Given the description of an element on the screen output the (x, y) to click on. 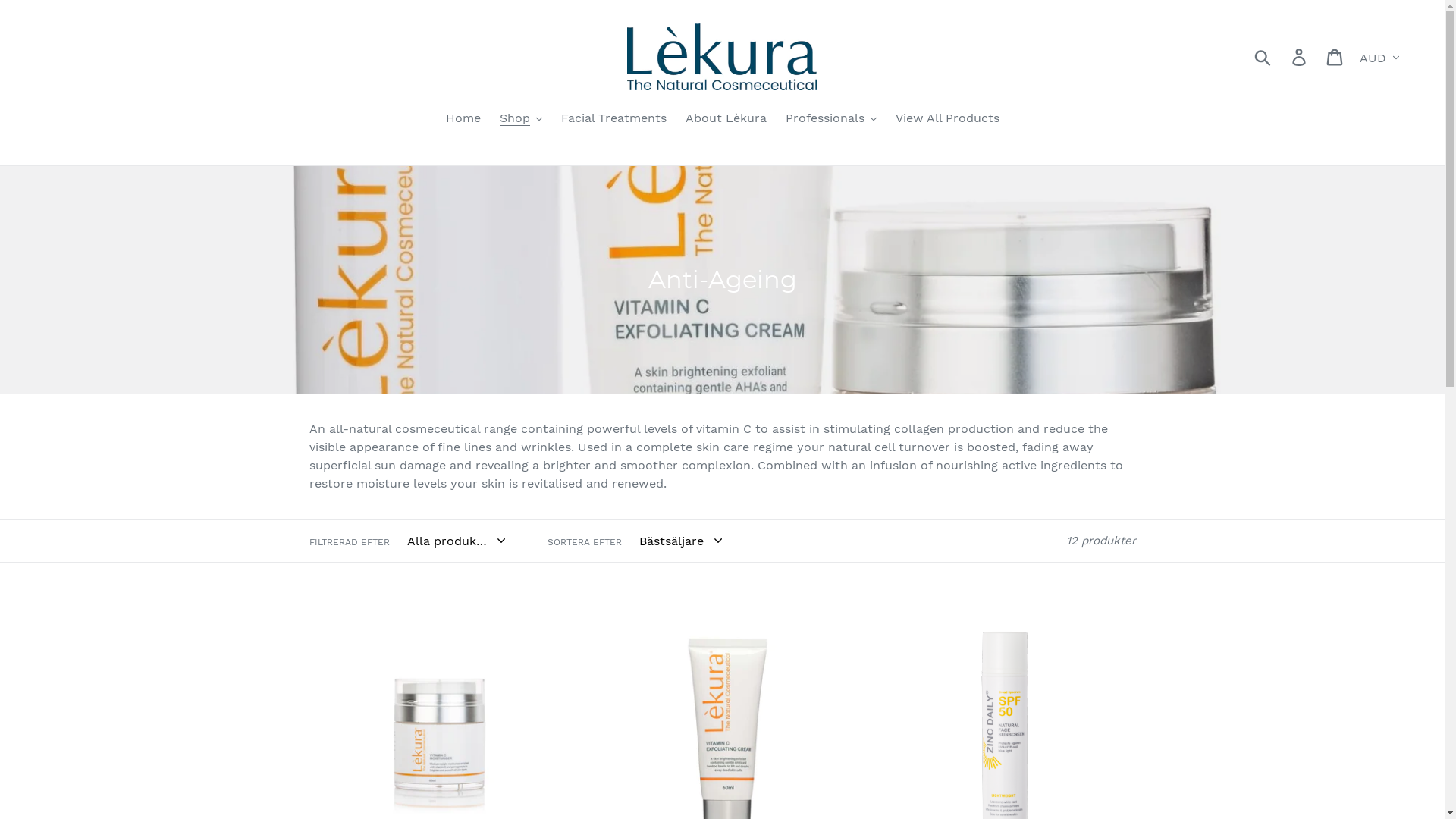
View All Products Element type: text (946, 119)
Varukorg Element type: text (1335, 56)
Facial Treatments Element type: text (613, 119)
Home Element type: text (463, 119)
Logga in Element type: text (1299, 56)
Skicka Element type: text (1263, 55)
